Given the description of an element on the screen output the (x, y) to click on. 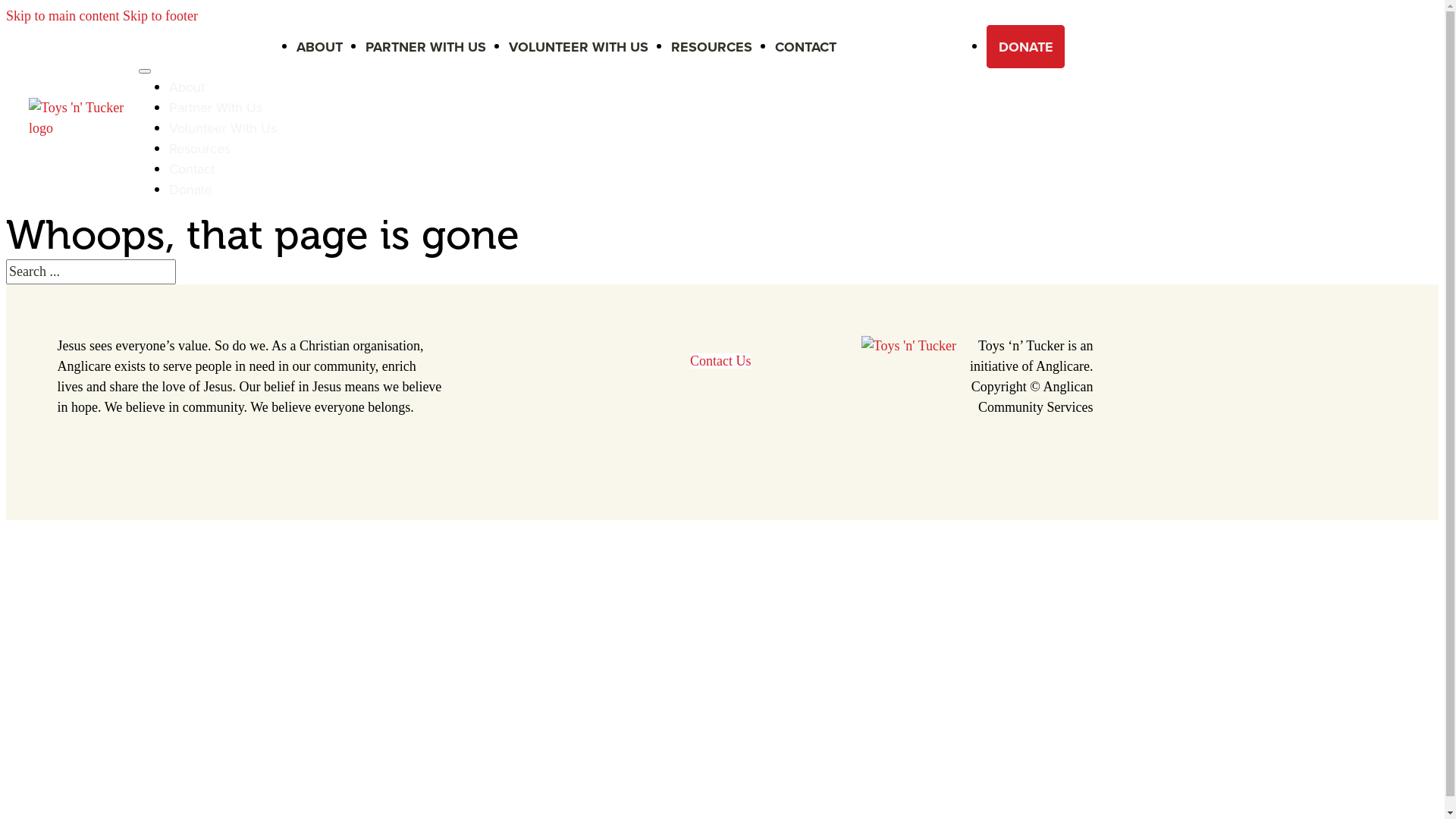
ABOUT Element type: text (319, 46)
VOLUNTEER WITH US Element type: text (578, 46)
CONTACT Element type: text (805, 46)
Skip to footer Element type: text (159, 15)
Contact Element type: text (191, 168)
DONATE Element type: text (1025, 46)
RESOURCES Element type: text (711, 46)
Skip to main content Element type: text (62, 15)
Volunteer With Us Element type: text (222, 128)
Partner With Us Element type: text (215, 107)
Visit Anglicare website Element type: hover (908, 345)
Resources Element type: text (199, 148)
Contact Us Element type: text (720, 360)
About Element type: text (186, 87)
PARTNER WITH US Element type: text (425, 46)
Donate Element type: text (190, 189)
